Given the description of an element on the screen output the (x, y) to click on. 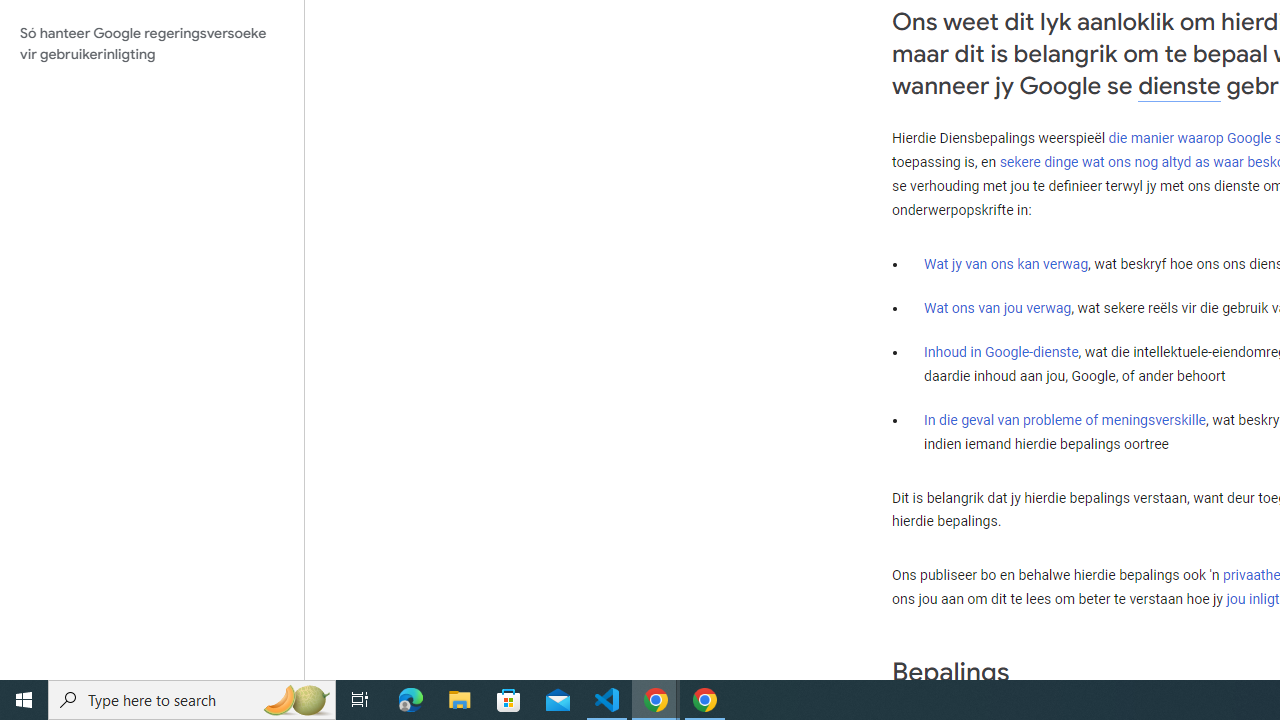
Language Chinese (Simplified, Mainland China) (378, 640)
